Given the description of an element on the screen output the (x, y) to click on. 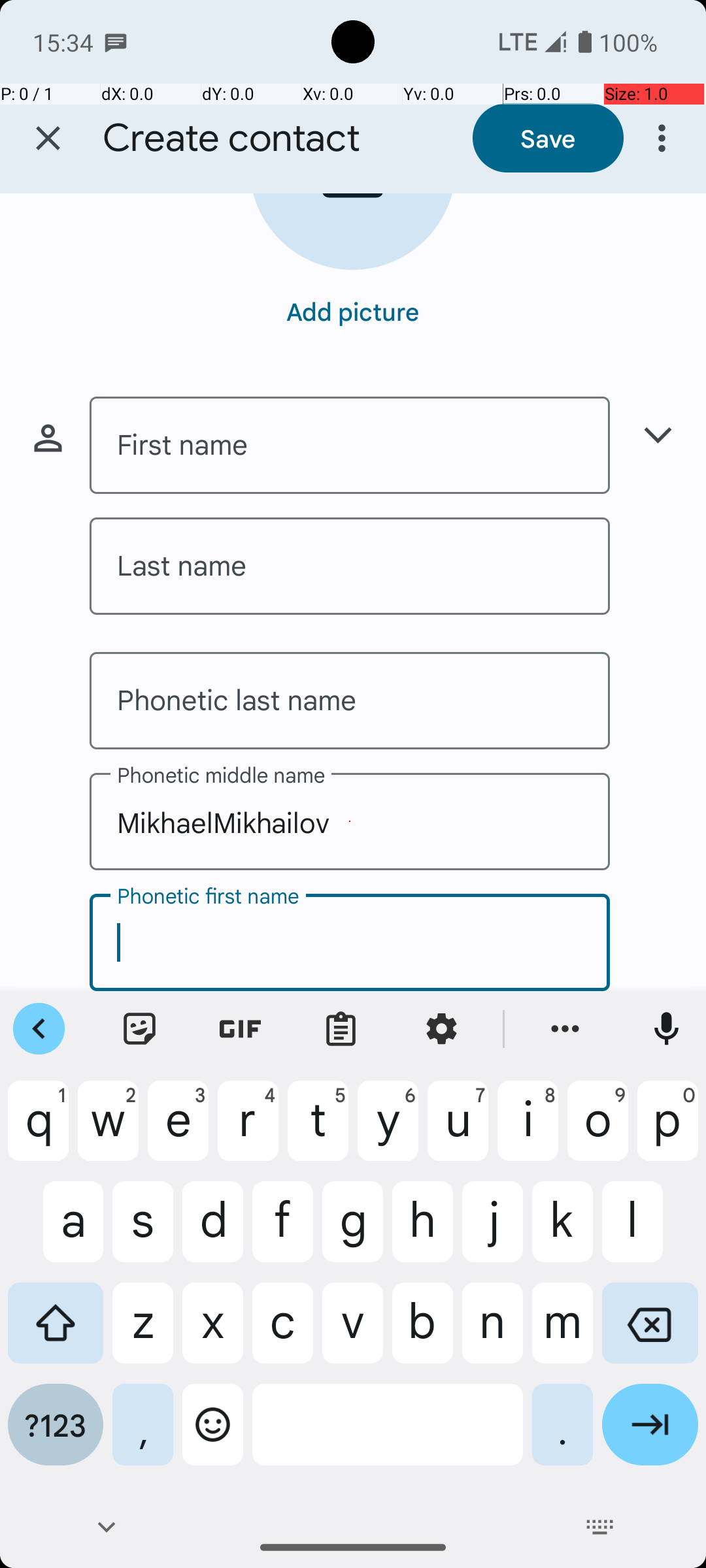
Add contact photo Element type: android.widget.FrameLayout (352, 231)
Add picture Element type: android.widget.Button (352, 310)
Phonetic last name Element type: android.widget.EditText (349, 700)
MikhaelMikhailov Element type: android.widget.EditText (349, 821)
Phonetic first name Element type: android.widget.EditText (349, 942)
Show more name fields Element type: android.widget.ImageView (657, 434)
